Given the description of an element on the screen output the (x, y) to click on. 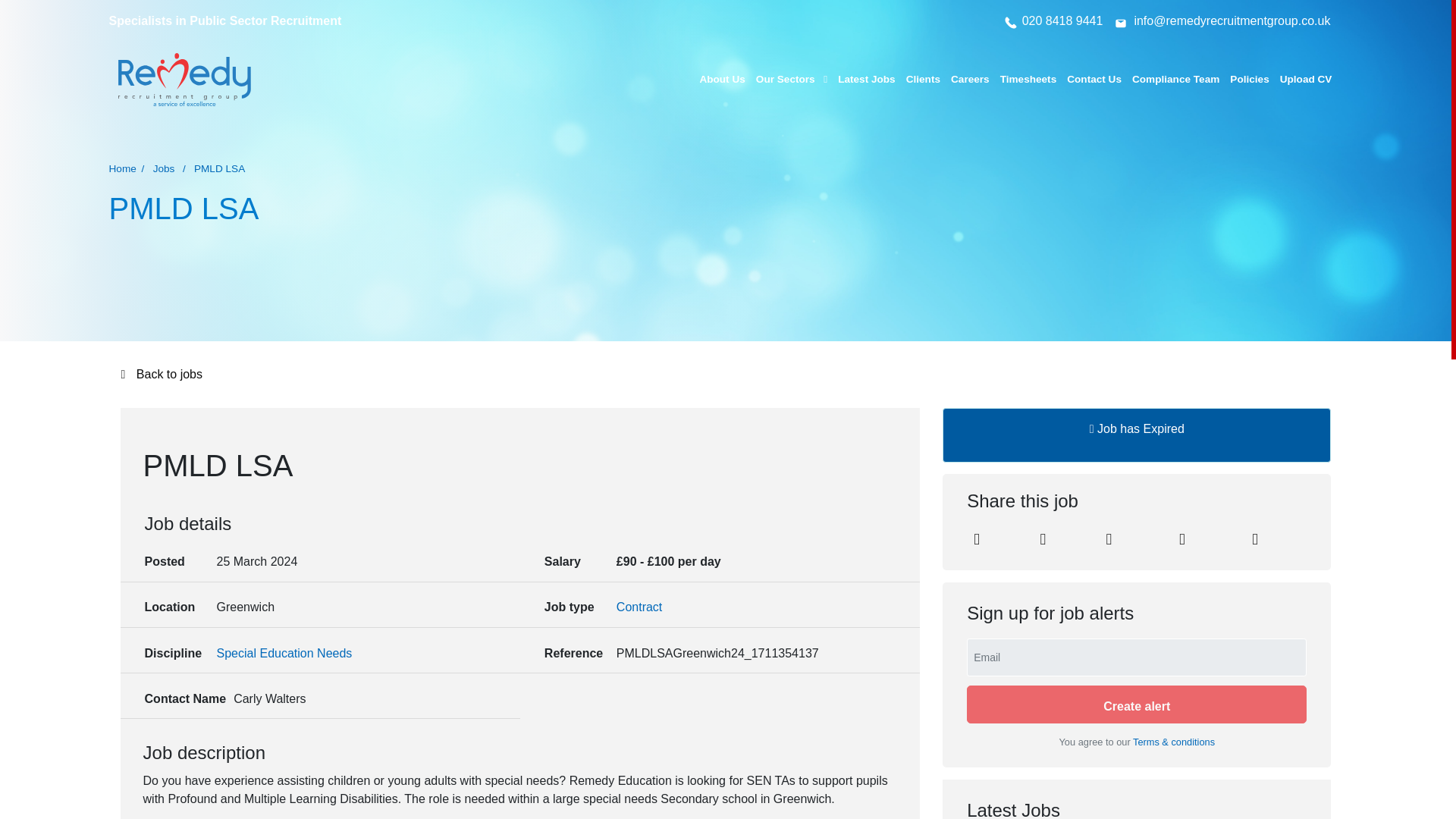
Compliance Team (1176, 78)
Go to the Homepage (184, 79)
Timesheets (1028, 78)
About Us (721, 78)
Latest Jobs (866, 78)
Clients (922, 78)
020 8418 9441 (1053, 20)
Remedy Recruitment (184, 79)
Contact Us (1094, 78)
Careers (970, 78)
